Given the description of an element on the screen output the (x, y) to click on. 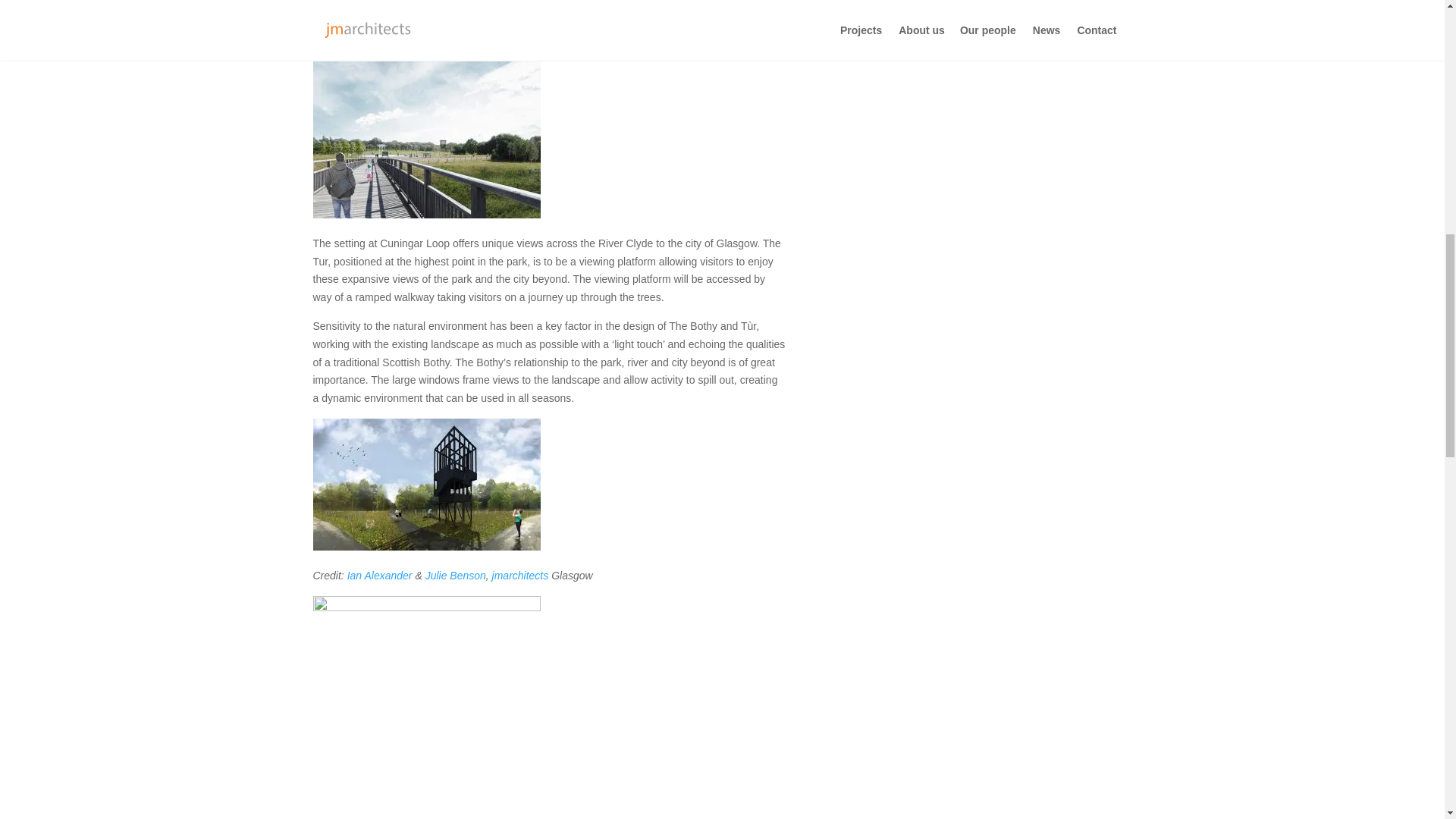
jmarchitects (520, 575)
Ian Alexander (379, 575)
Julie Benson (455, 575)
